Given the description of an element on the screen output the (x, y) to click on. 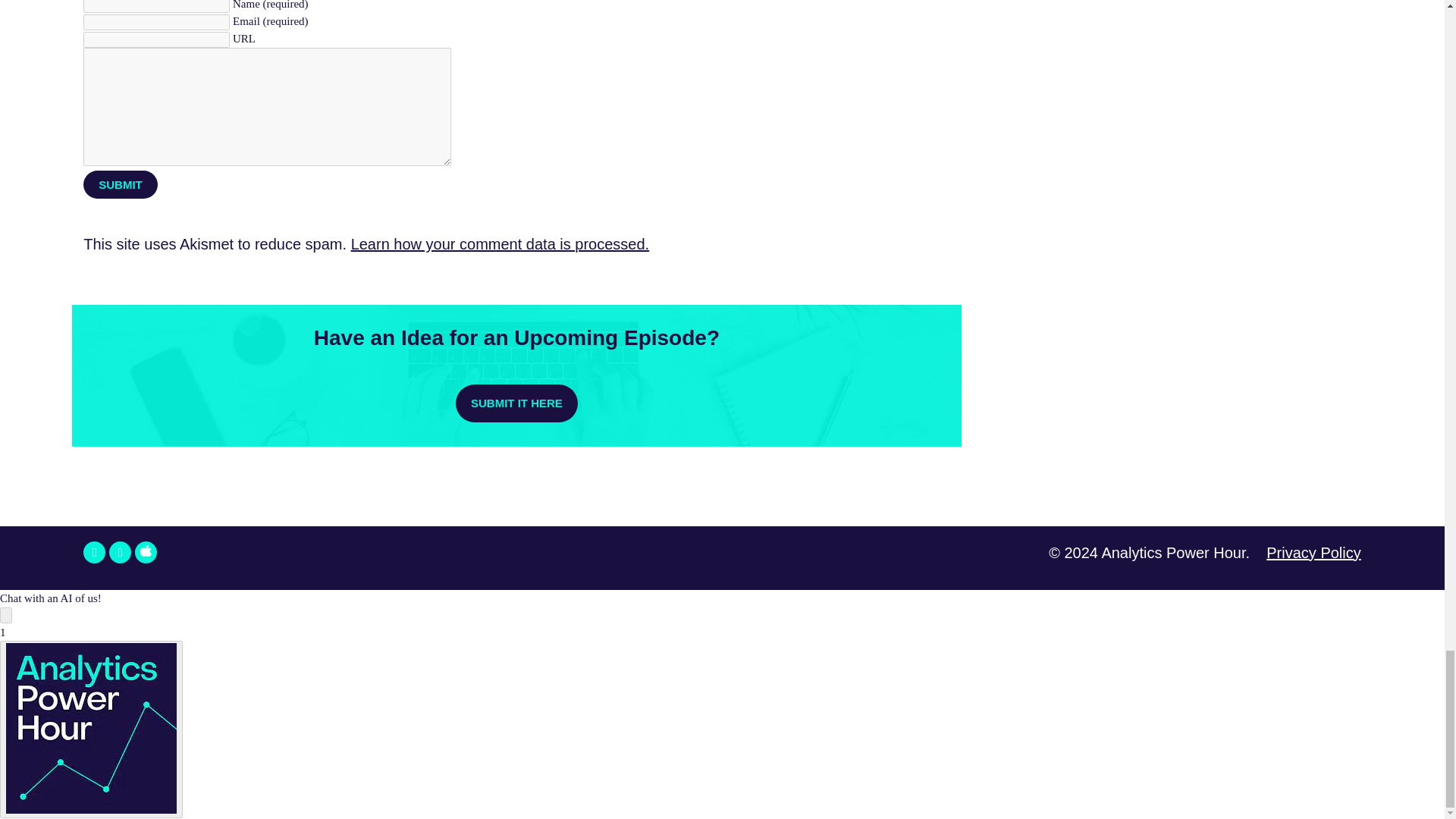
Submit (119, 184)
